Given the description of an element on the screen output the (x, y) to click on. 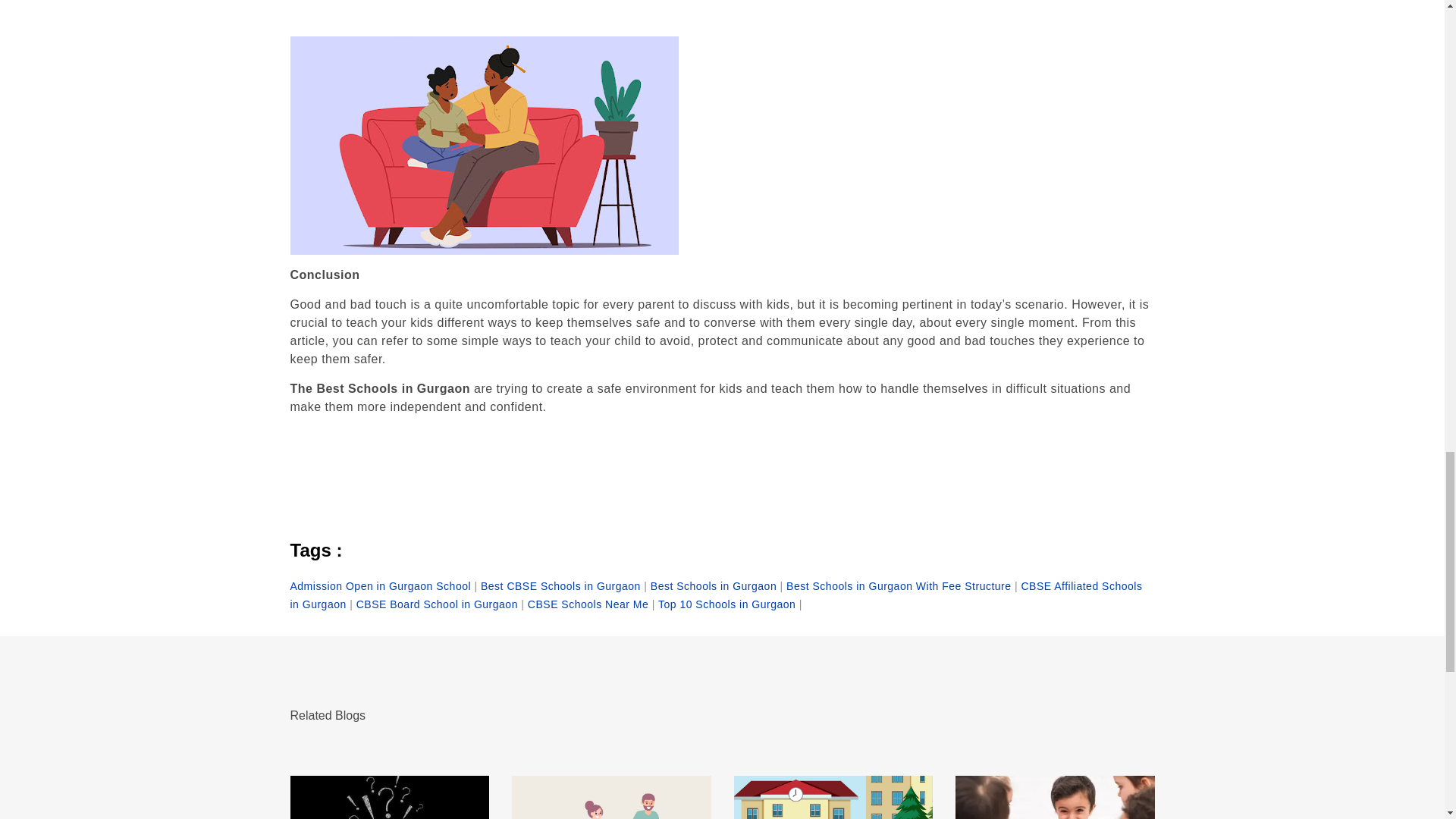
dgfsrdgg (483, 145)
Teaching Kids About Good Touch and Bad Touch (833, 797)
Teaching Kids About Good Touch and Bad Touch (1054, 797)
Teaching Kids About Good Touch and Bad Touch (389, 797)
Teaching Kids About Good Touch and Bad Touch (611, 797)
